Given the description of an element on the screen output the (x, y) to click on. 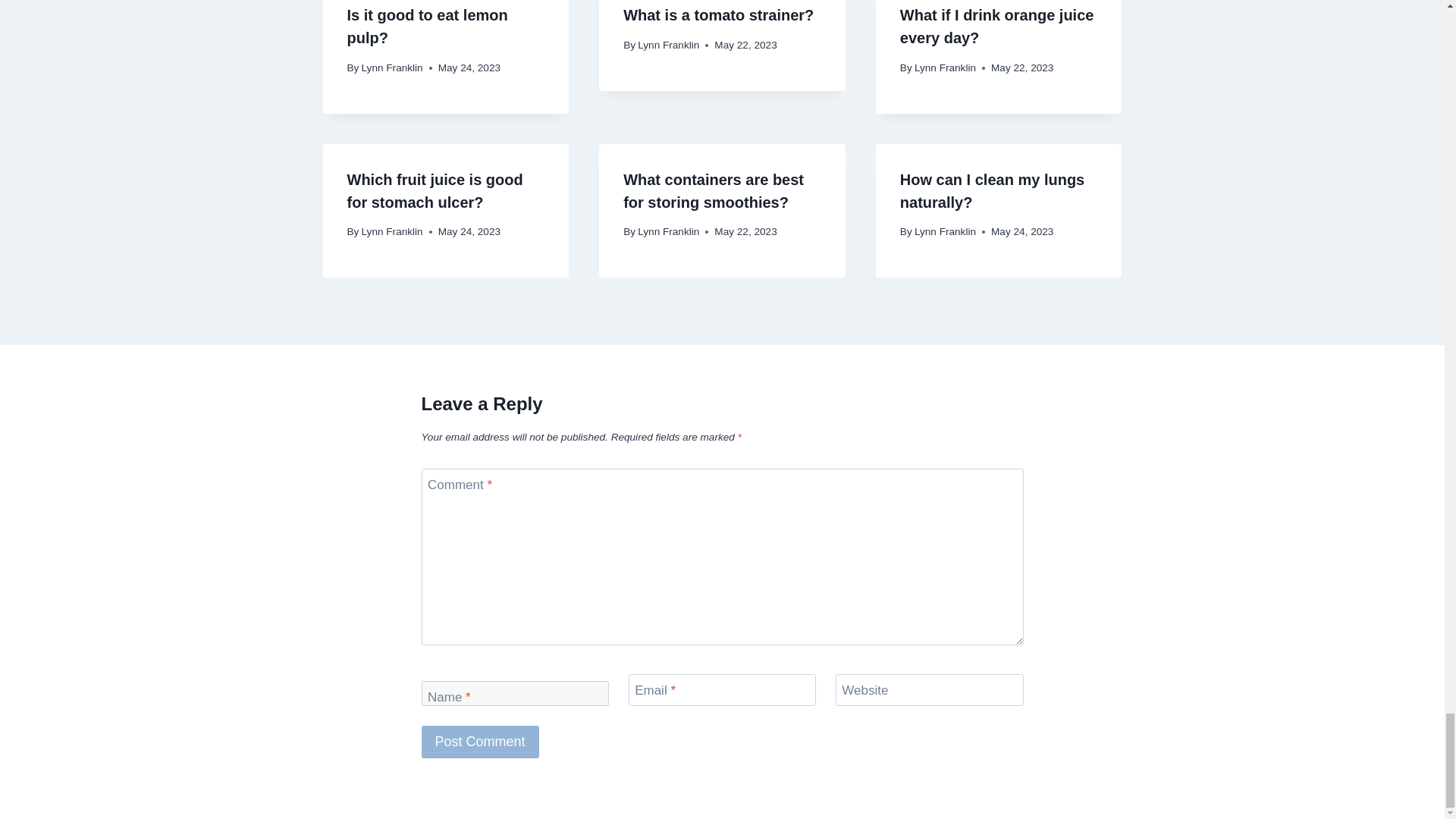
Is it good to eat lemon pulp? (427, 25)
Lynn Franklin (392, 67)
Post Comment (480, 741)
